Given the description of an element on the screen output the (x, y) to click on. 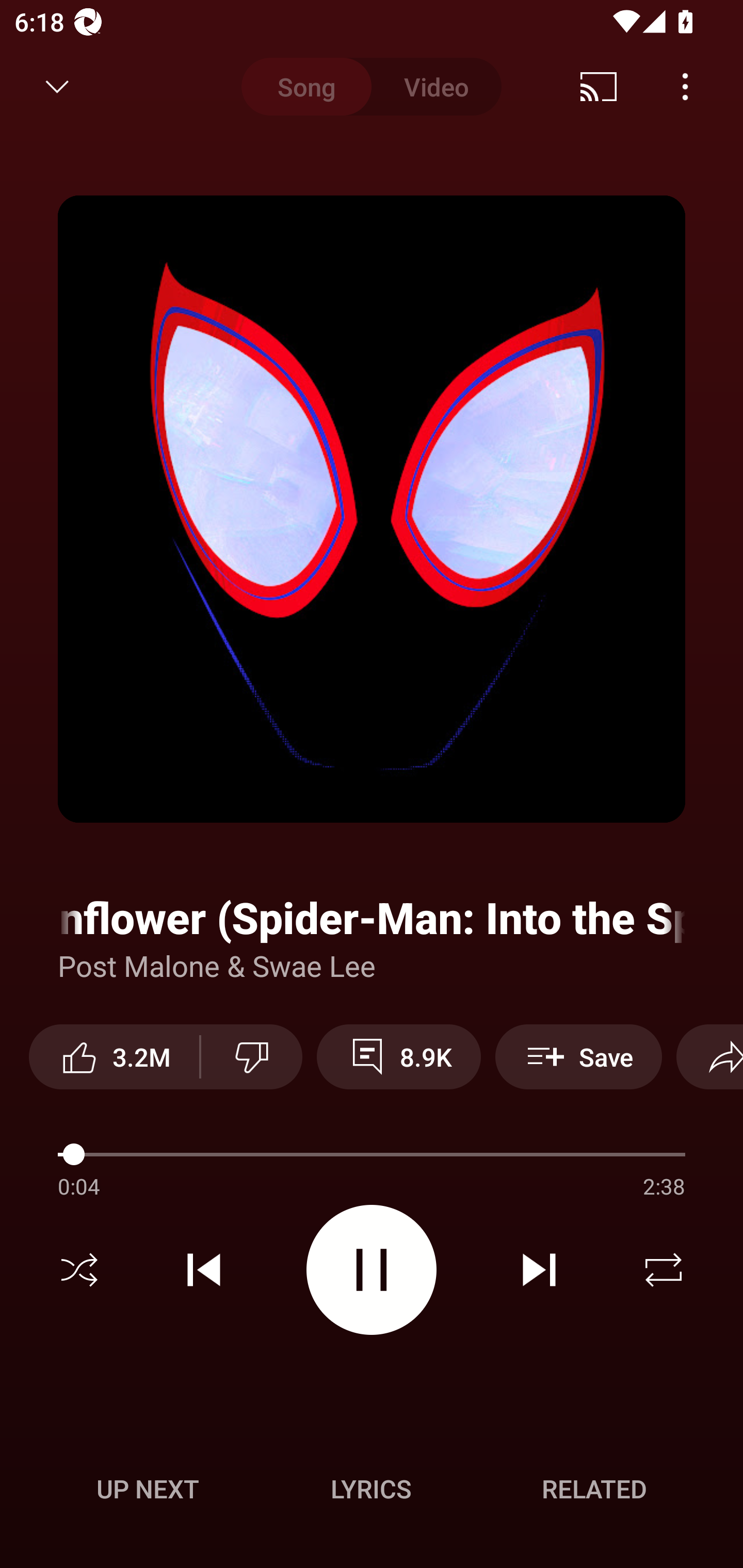
Minimize (57, 86)
Cast. Disconnected (598, 86)
Menu (684, 86)
Dislike (251, 1056)
8.9K View 8,905 comments (398, 1056)
Save Save to playlist (578, 1056)
Share (709, 1056)
Pause video (371, 1269)
Shuffle off (79, 1269)
Previous track (203, 1269)
Next track (538, 1269)
Repeat off (663, 1269)
Up next UP NEXT Lyrics LYRICS Related RELATED (371, 1491)
Lyrics LYRICS (370, 1488)
Related RELATED (594, 1488)
